Given the description of an element on the screen output the (x, y) to click on. 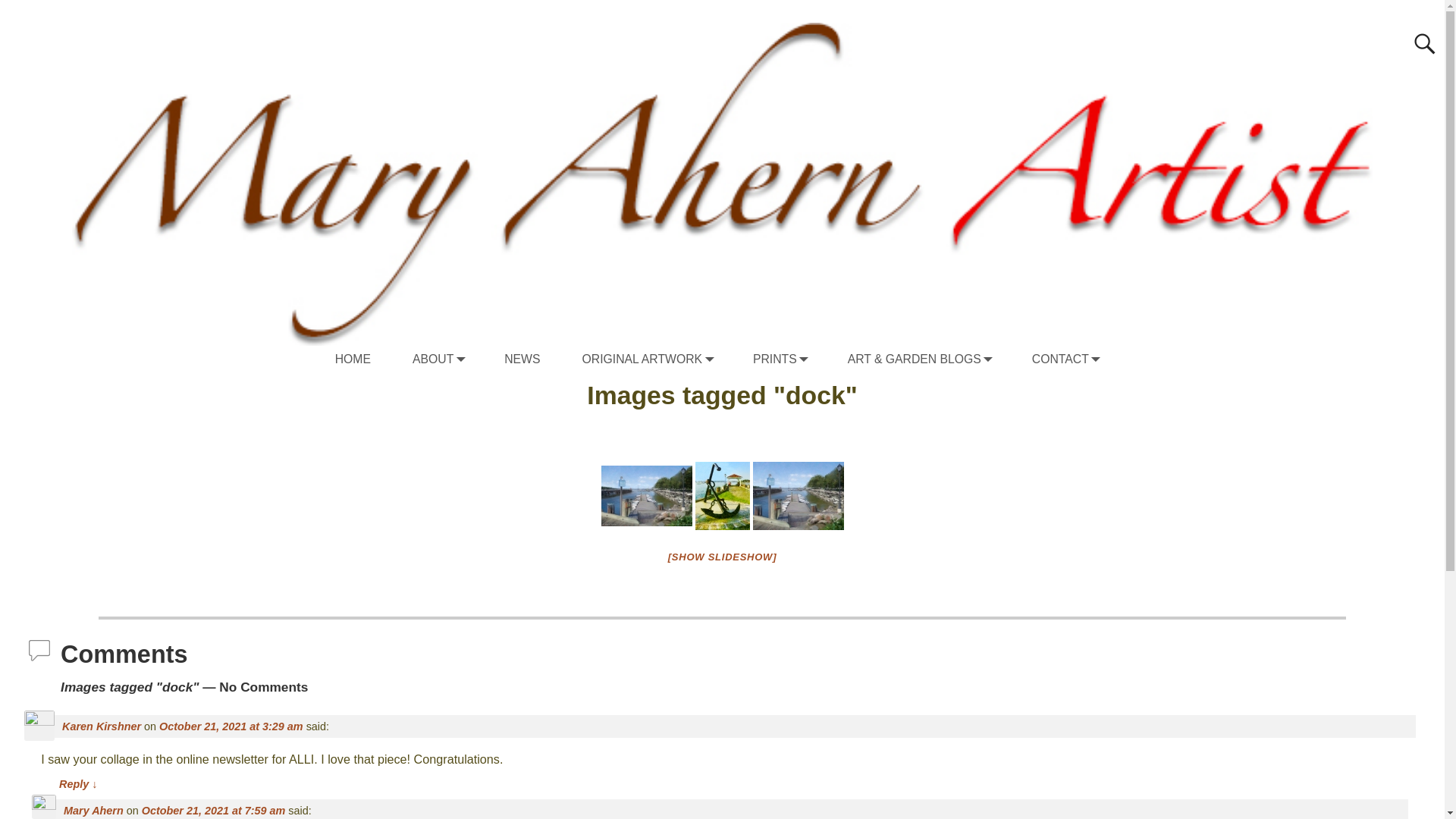
HOME (364, 358)
October 21, 2021 at 3:29 am (230, 726)
CONTACT (1077, 358)
NEWS (533, 358)
Karen Kirshner (101, 726)
ORIGINAL ARTWORK (658, 358)
October 21, 2021 at 7:59 am (213, 810)
Mary Ahern (93, 810)
ABOUT (449, 358)
PRINTS (791, 358)
